Given the description of an element on the screen output the (x, y) to click on. 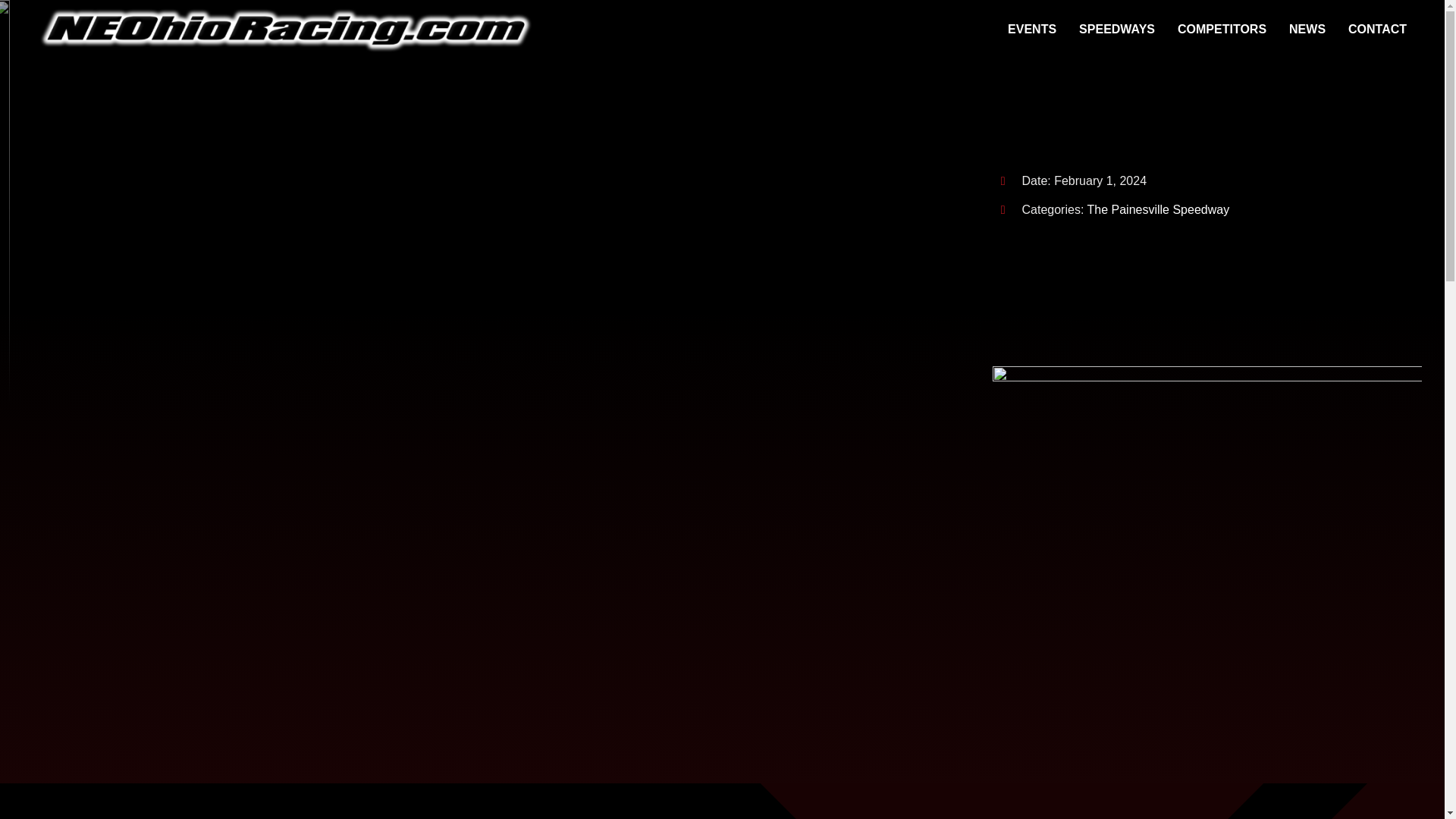
COMPETITORS (1221, 30)
NEWS (1306, 30)
The Painesville Speedway (1157, 209)
CONTACT (1377, 30)
EVENTS (1032, 30)
SPEEDWAYS (1116, 30)
